Given the description of an element on the screen output the (x, y) to click on. 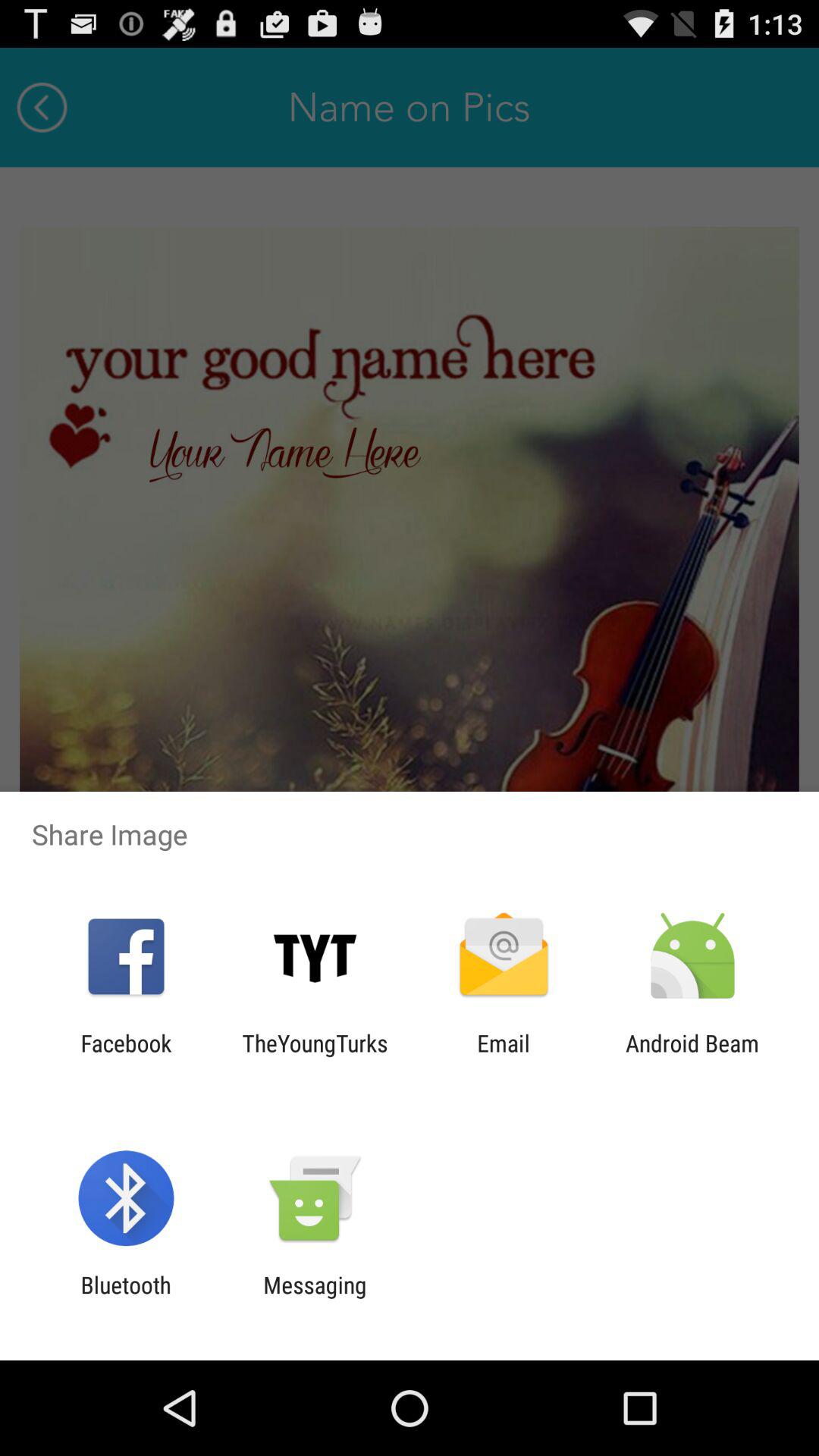
select messaging icon (314, 1298)
